Given the description of an element on the screen output the (x, y) to click on. 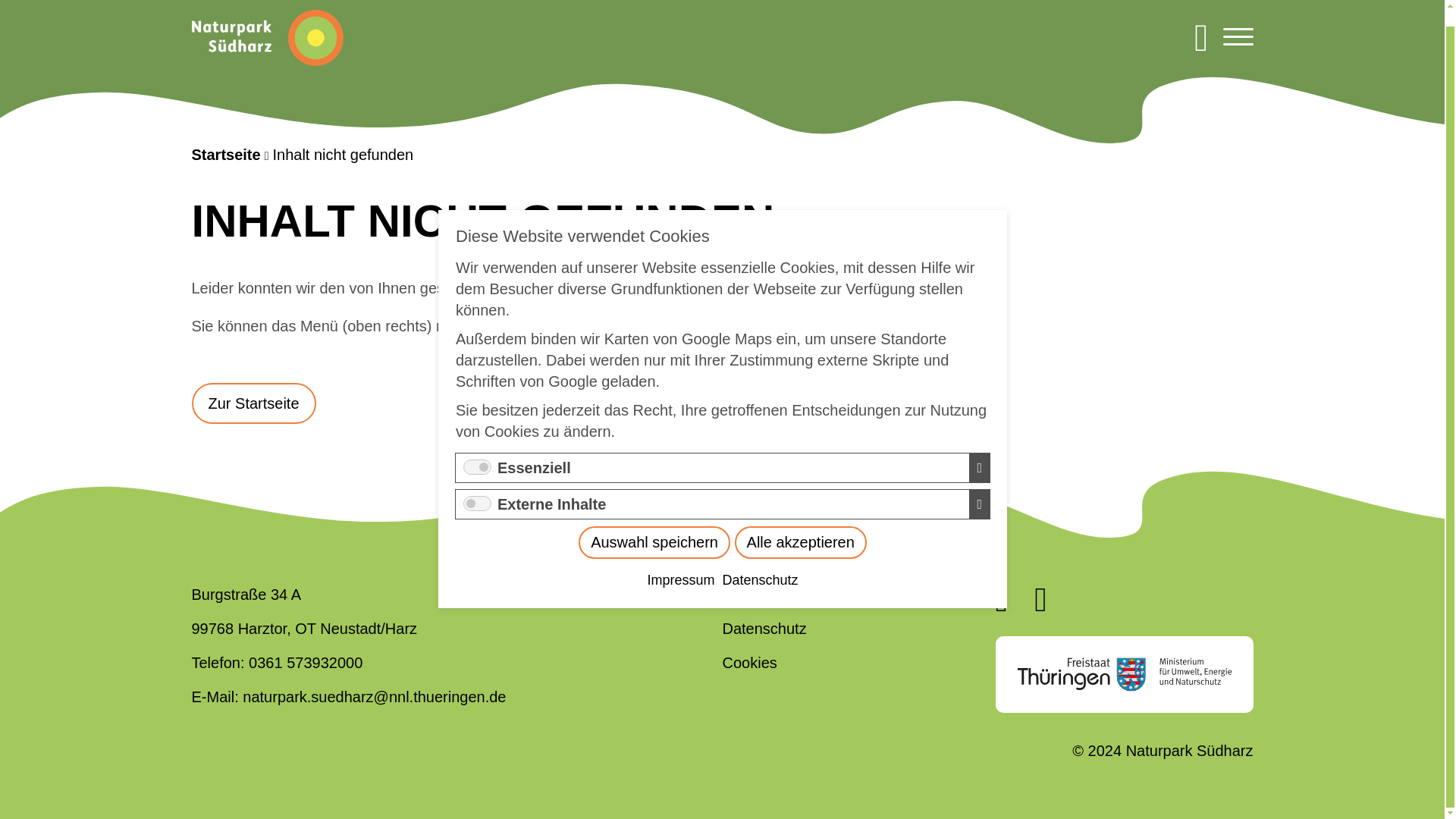
Datenschutz (759, 484)
Alle akzeptieren (791, 441)
Impressum (726, 465)
Auswahl speichern (771, 431)
